Given the description of an element on the screen output the (x, y) to click on. 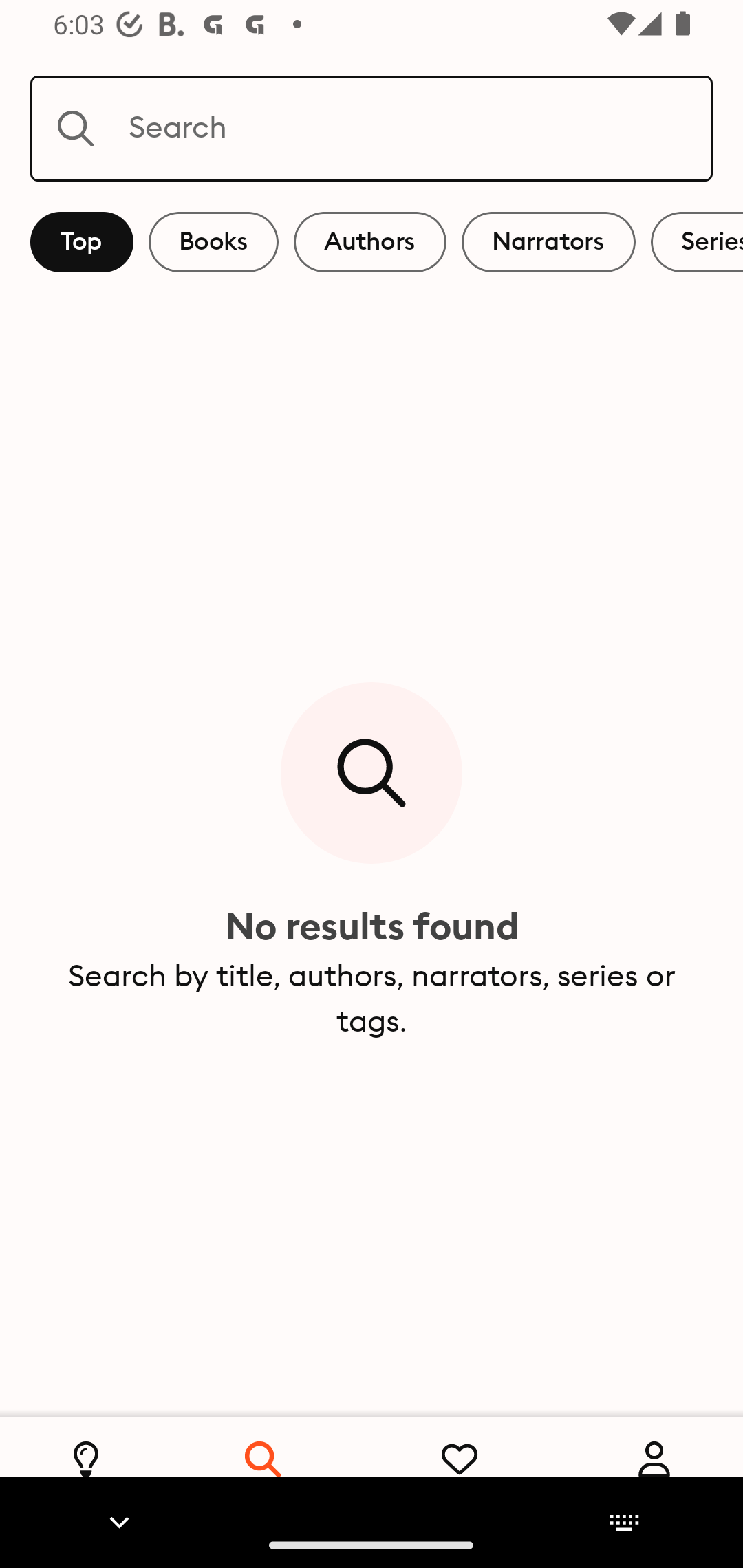
Search (371, 128)
Top (81, 241)
Books (213, 241)
Authors (369, 241)
Narrators (548, 241)
Series (696, 241)
